Given the description of an element on the screen output the (x, y) to click on. 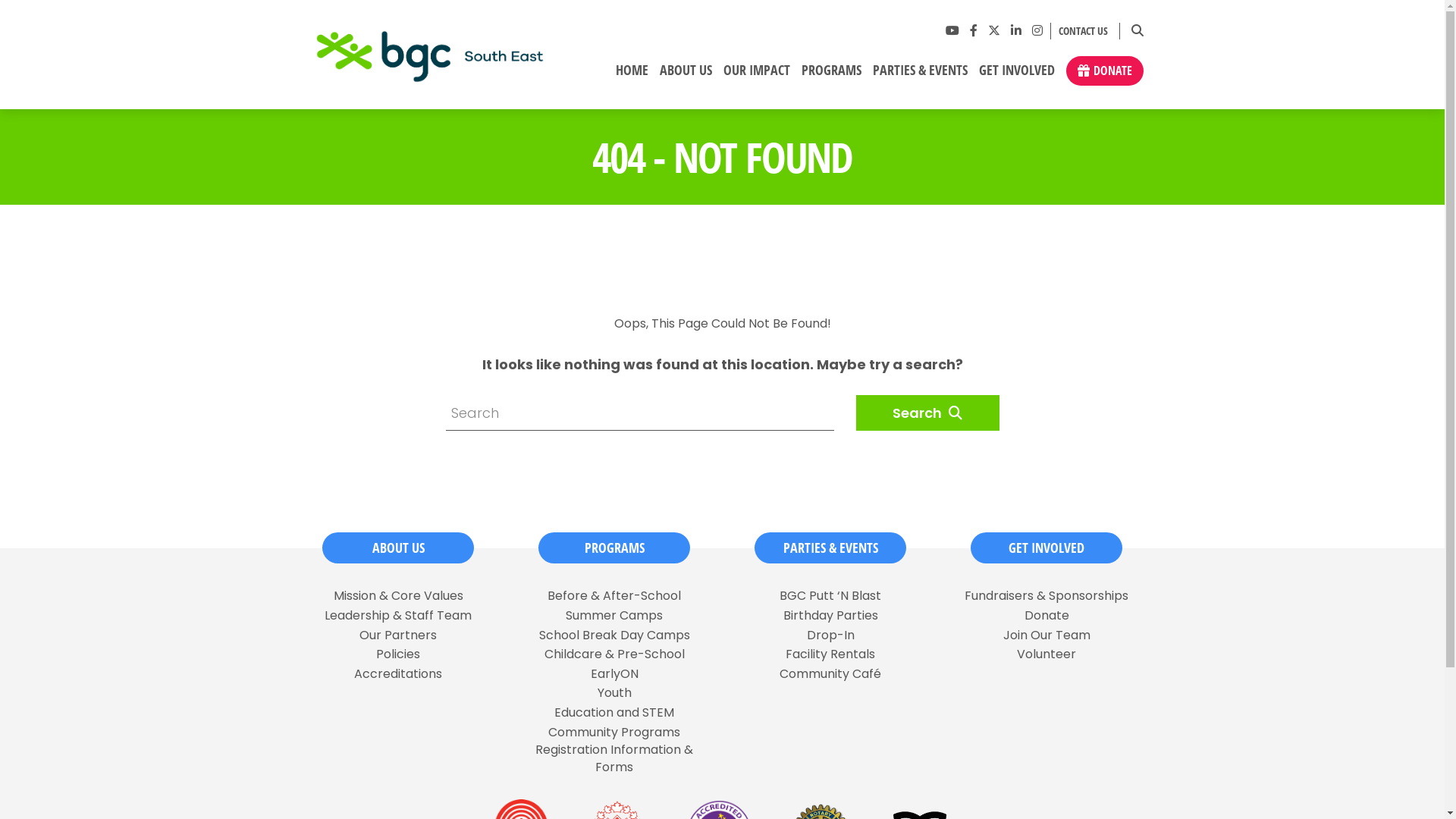
Childcare & Pre-School Element type: text (614, 654)
Search Element type: text (926, 412)
Summer Camps Element type: text (613, 615)
Volunteer Element type: text (1046, 654)
Policies Element type: text (398, 654)
PROGRAMS Element type: text (614, 548)
Drop-In Element type: text (830, 635)
OUR IMPACT Element type: text (756, 76)
Donate Element type: text (1045, 615)
Our Partners Element type: text (397, 635)
GET INVOLVED Element type: text (1046, 548)
DONATE Element type: text (1104, 70)
Facility Rentals Element type: text (830, 654)
GET INVOLVED Element type: text (1016, 76)
ABOUT US Element type: text (397, 548)
School Break Day Camps Element type: text (613, 635)
Community Programs Element type: text (614, 732)
Leadership & Staff Team Element type: text (397, 615)
PROGRAMS Element type: text (830, 76)
Registration Information & Forms Element type: text (613, 758)
PARTIES & EVENTS Element type: text (830, 548)
EarlyON Element type: text (613, 673)
Mission & Core Values Element type: text (398, 595)
Fundraisers & Sponsorships Element type: text (1046, 595)
Before & After-School Element type: text (613, 595)
Youth Element type: text (614, 692)
HOME Element type: text (631, 76)
PARTIES & EVENTS Element type: text (919, 76)
Birthday Parties Element type: text (829, 615)
Accreditations Element type: text (398, 673)
ABOUT US Element type: text (685, 76)
Education and STEM Element type: text (614, 712)
Join Our Team Element type: text (1045, 635)
CONTACT US Element type: text (1079, 31)
